Given the description of an element on the screen output the (x, y) to click on. 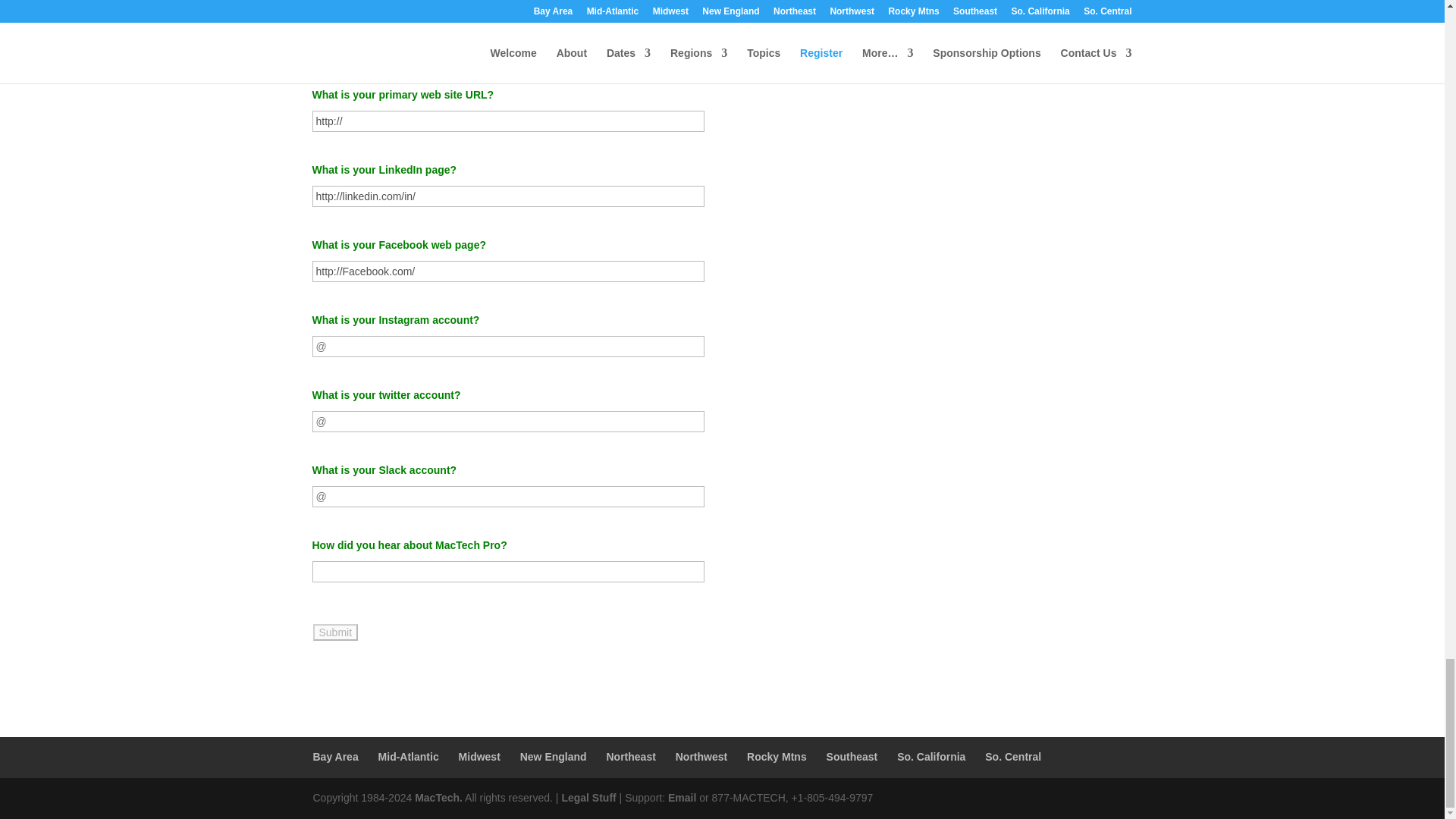
MacTech (438, 797)
